Given the description of an element on the screen output the (x, y) to click on. 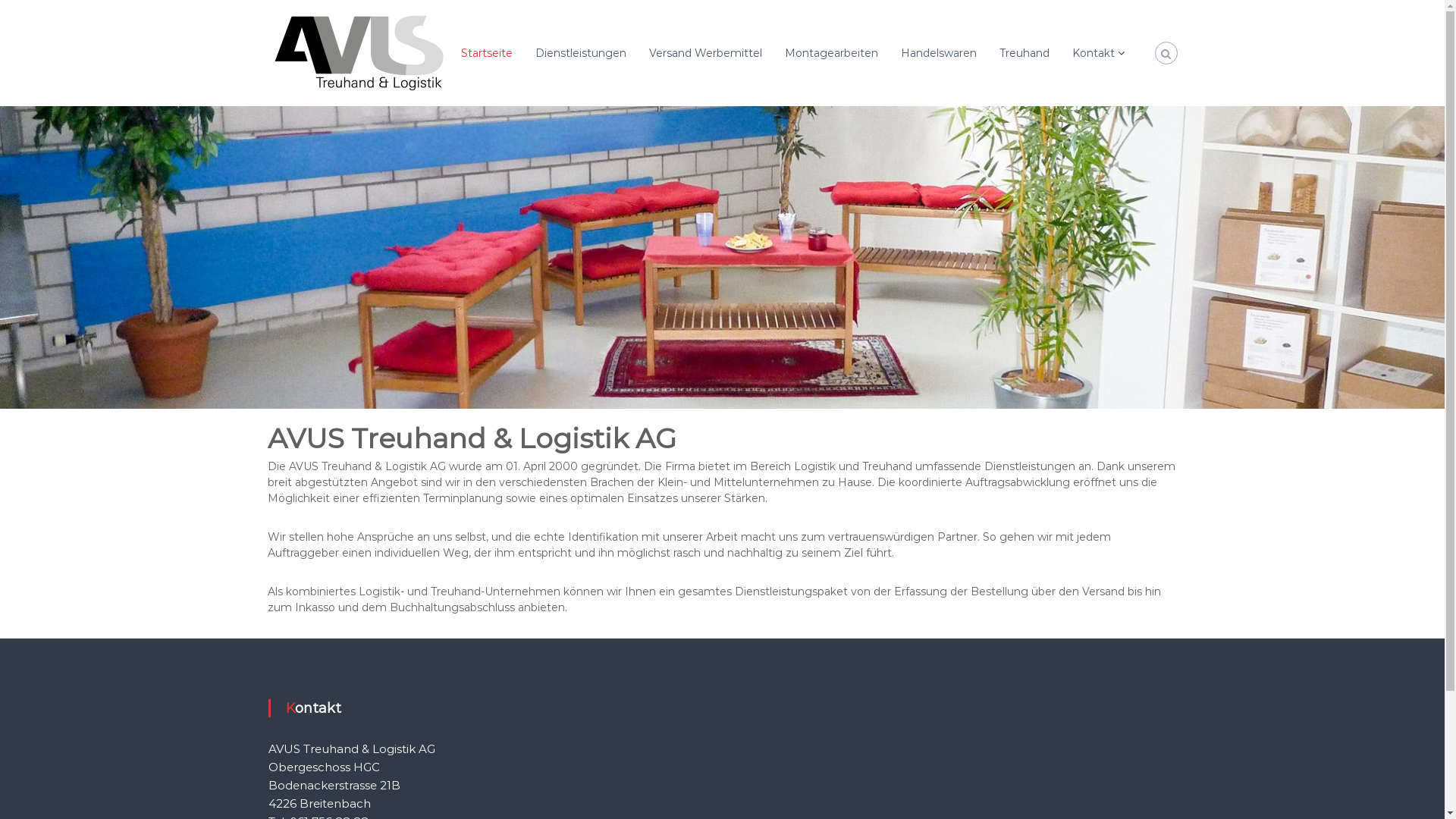
Montagearbeiten Element type: text (830, 52)
Dienstleistungen Element type: text (580, 52)
Versand Werbemittel Element type: text (705, 52)
Startseite Element type: text (486, 52)
Handelswaren Element type: text (938, 52)
Treuhand Element type: text (1024, 52)
Kontakt Element type: text (1093, 52)
